Given the description of an element on the screen output the (x, y) to click on. 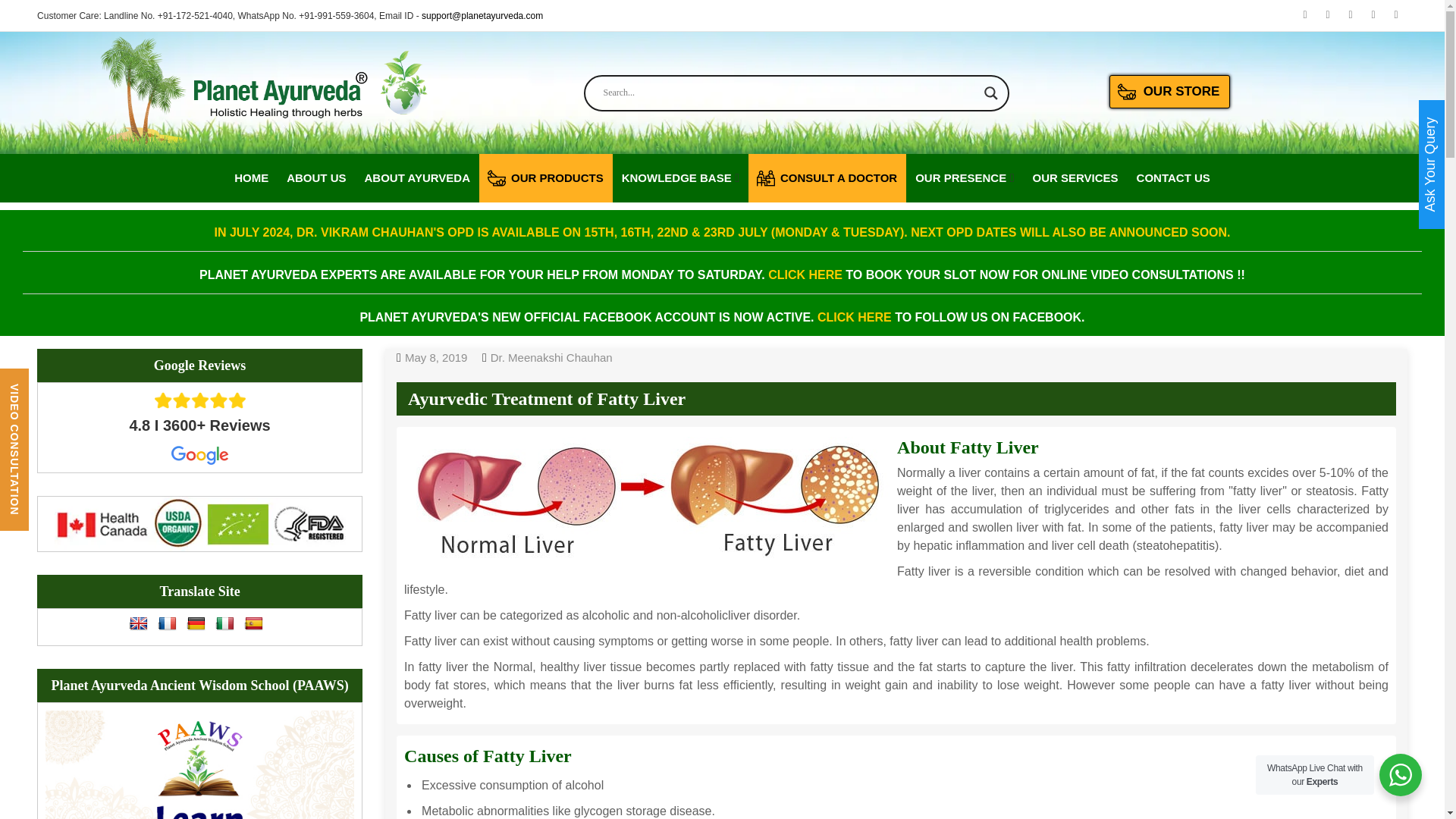
Youtube (1305, 15)
Twitter (1350, 15)
May 8, 2019 (435, 357)
ABOUT AYURVEDA (417, 177)
OUR SERVICES (1075, 177)
OUR PRESENCE (960, 177)
CONSULT A DOCTOR (826, 177)
CLICK HERE (853, 317)
French (167, 623)
HOME (250, 177)
instagram (1372, 15)
KNOWLEDGE BASE (676, 177)
OUR PRODUCTS (545, 177)
CLICK HERE (805, 274)
